Given the description of an element on the screen output the (x, y) to click on. 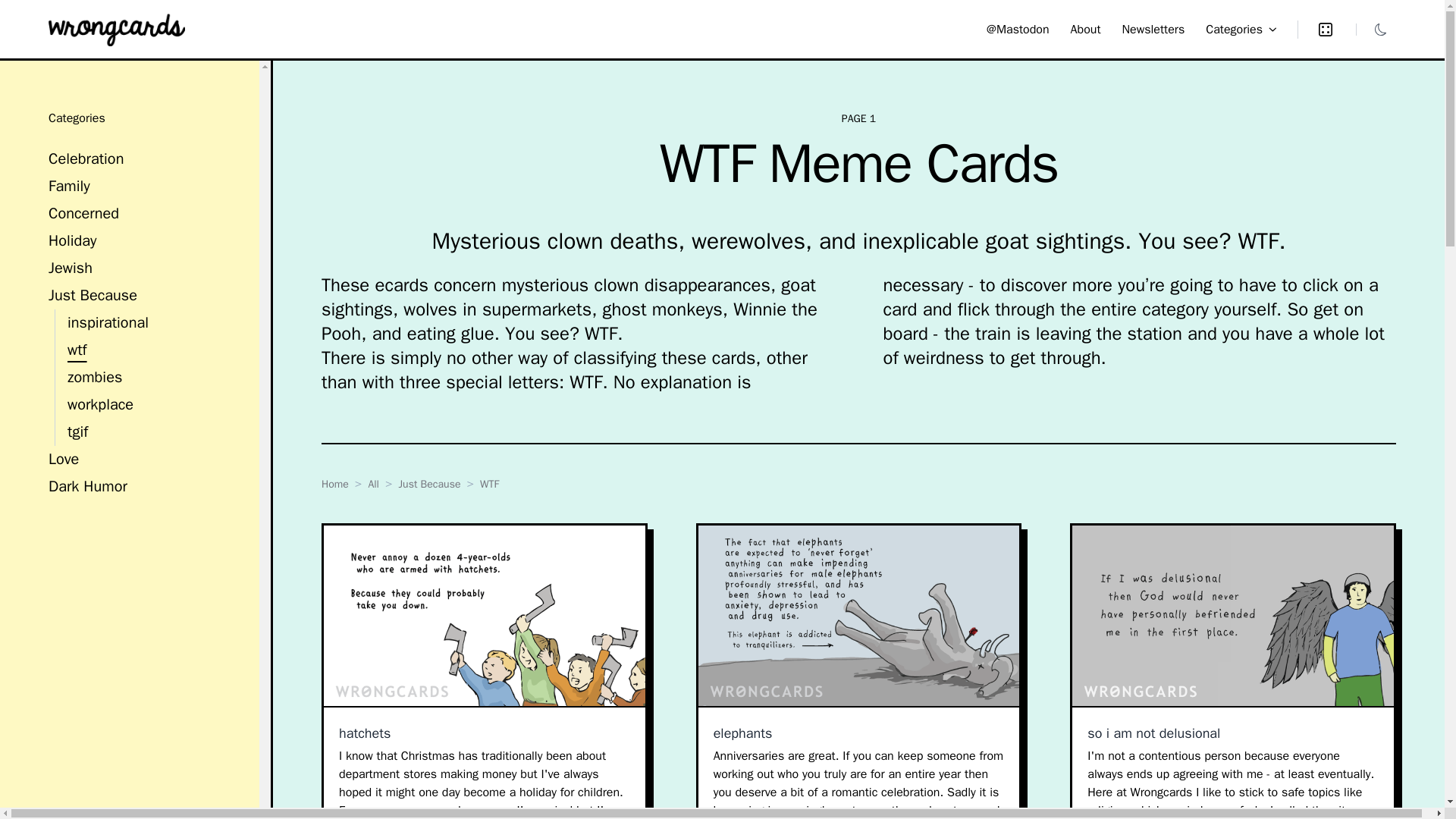
Newsletters (1153, 28)
Random Card (1316, 28)
Categories (1240, 28)
